Given the description of an element on the screen output the (x, y) to click on. 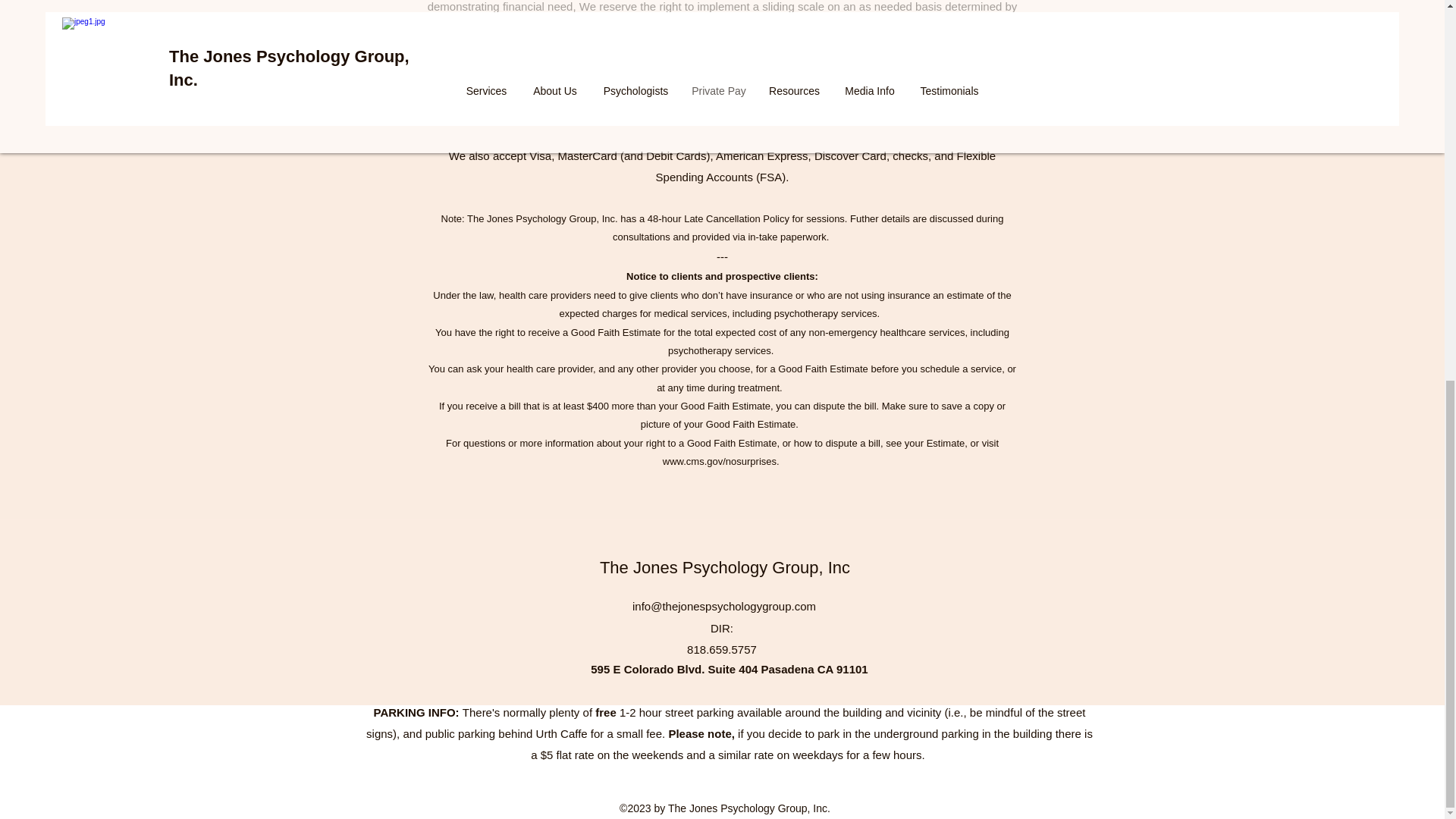
The Jones Psychology Group, Inc (724, 567)
